Given the description of an element on the screen output the (x, y) to click on. 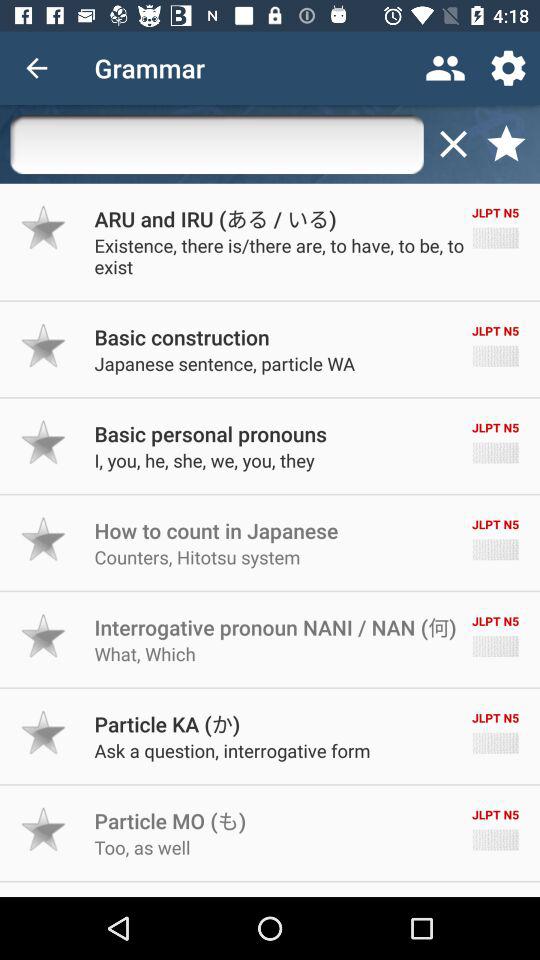
search box (216, 144)
